Given the description of an element on the screen output the (x, y) to click on. 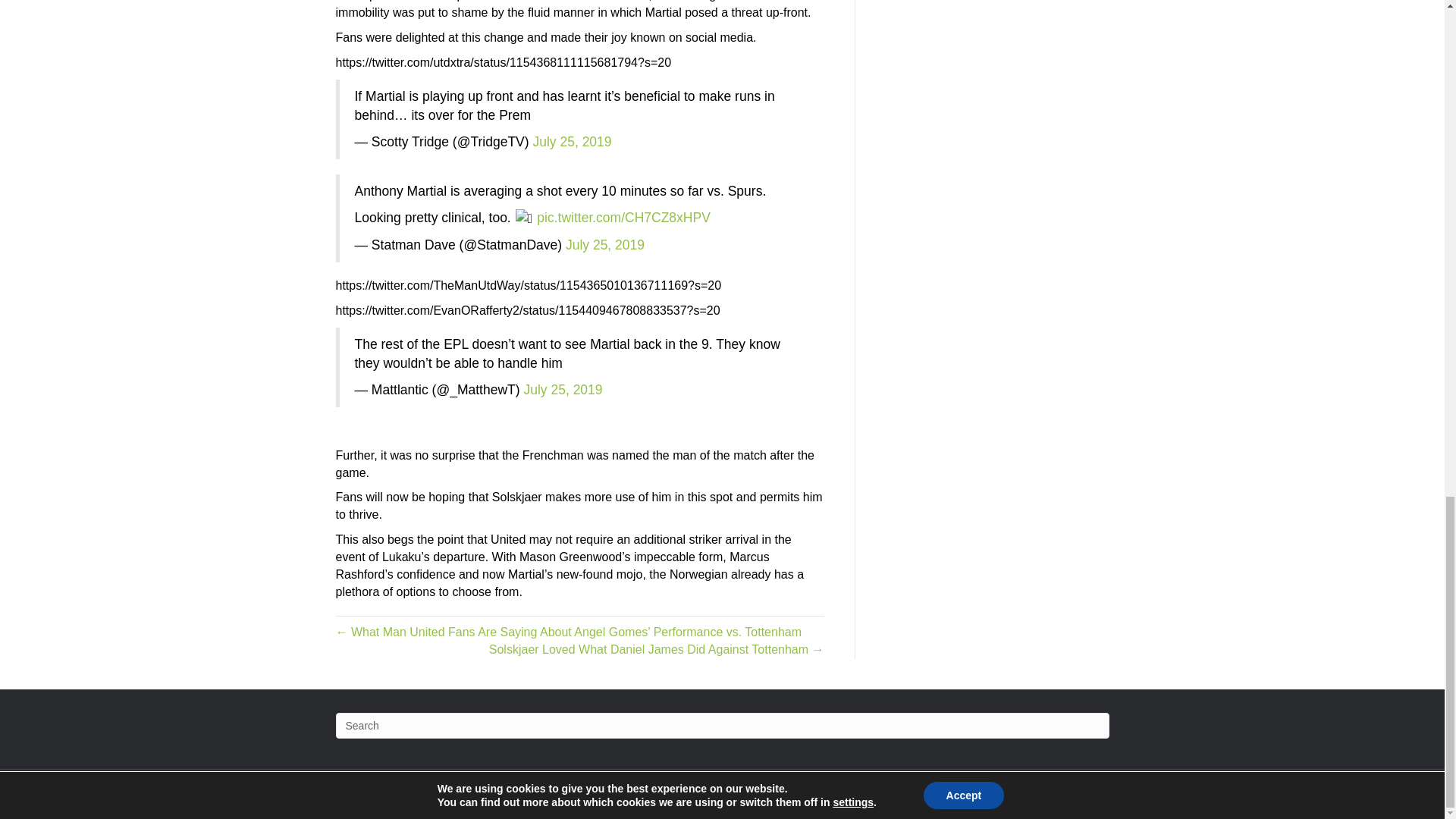
Search (721, 725)
Type and press Enter to search. (721, 725)
Search (721, 725)
